Given the description of an element on the screen output the (x, y) to click on. 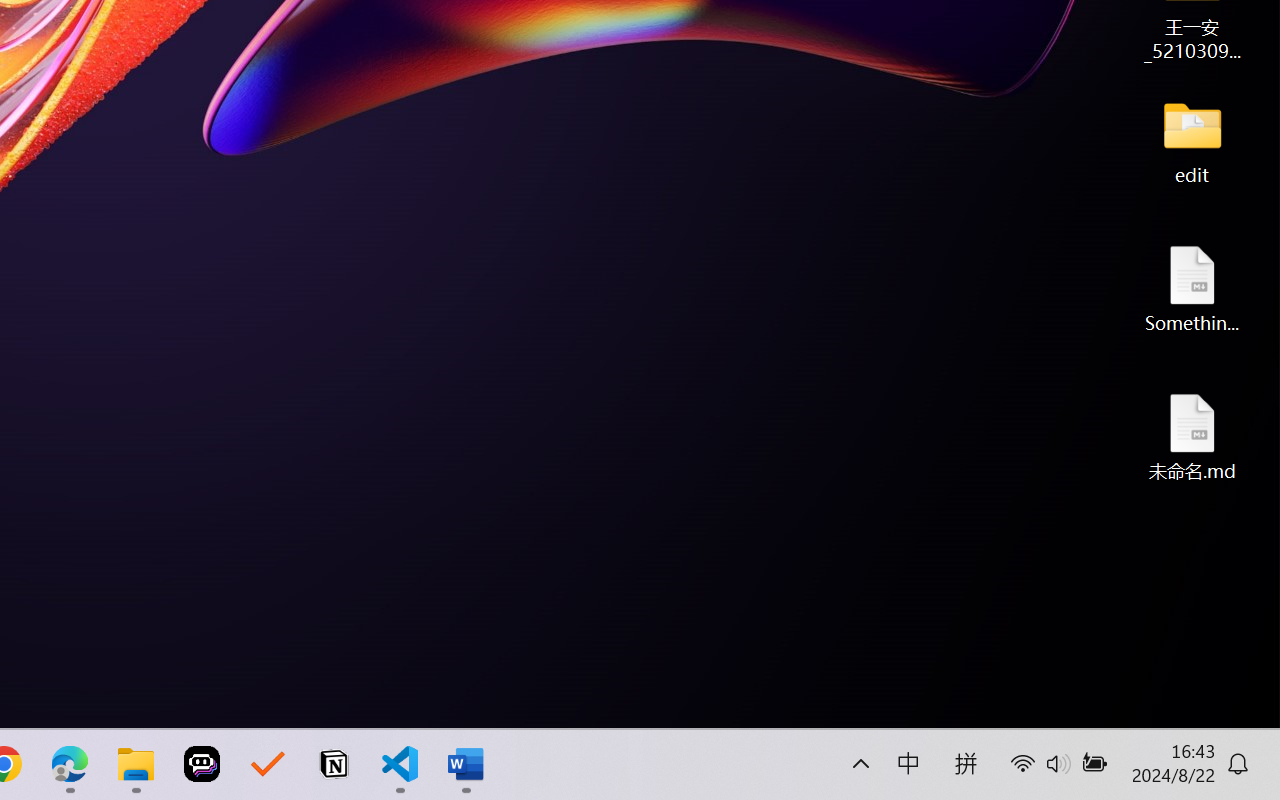
edit (1192, 140)
